Given the description of an element on the screen output the (x, y) to click on. 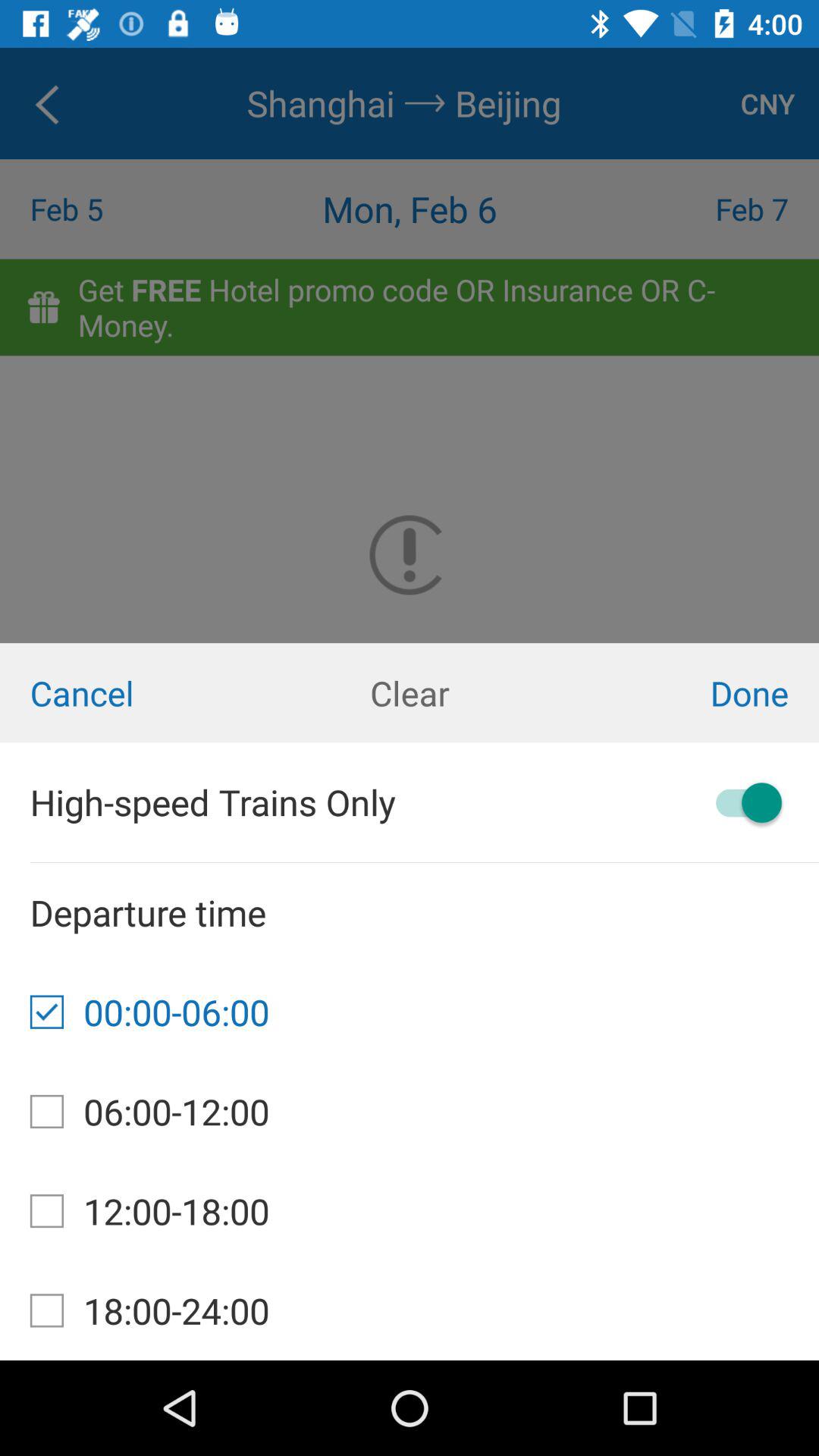
click the icon to the left of done (409, 692)
